Given the description of an element on the screen output the (x, y) to click on. 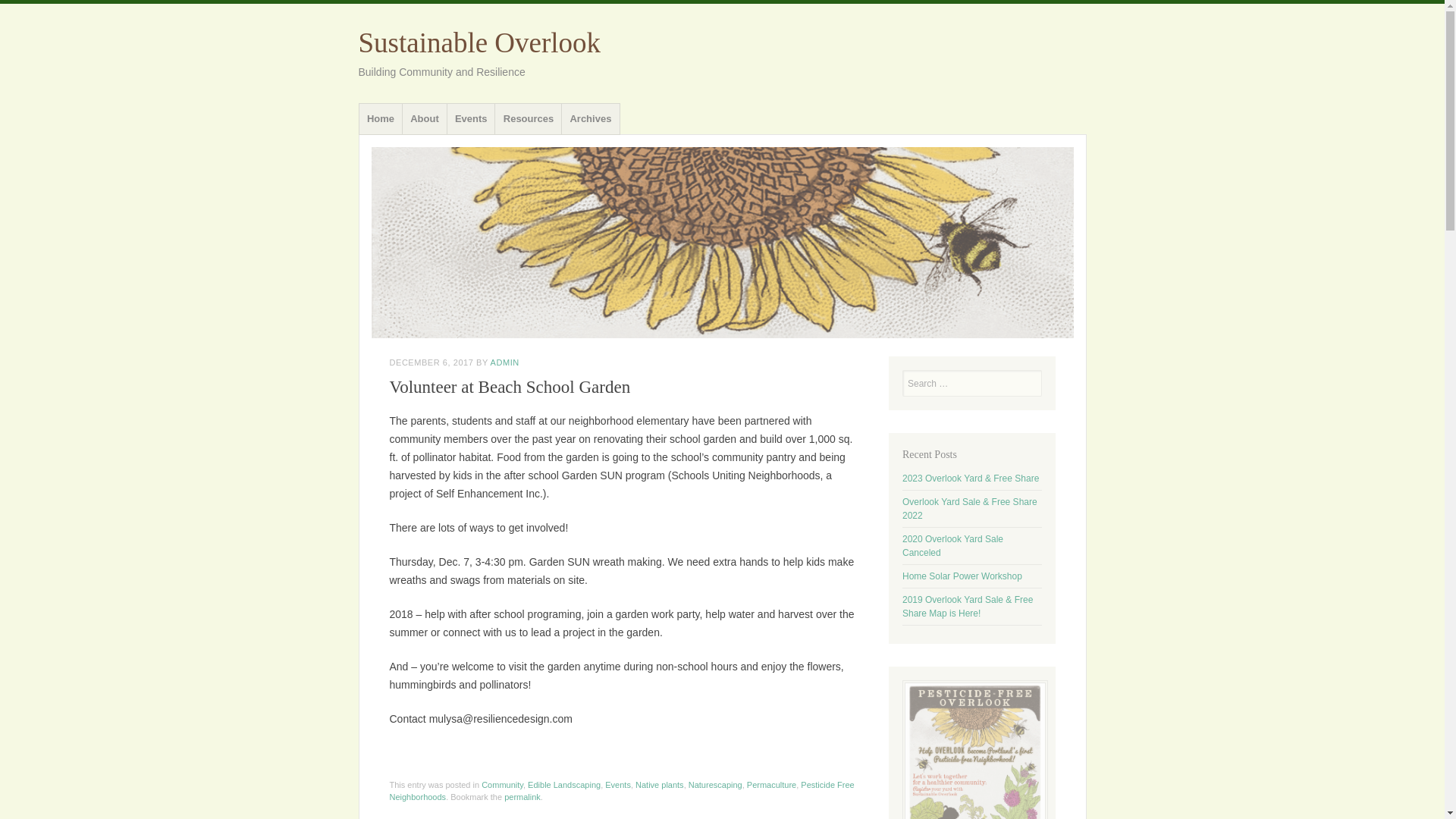
Sustainable Overlook (478, 42)
Community (501, 784)
Events (617, 784)
Naturescaping (715, 784)
2020 Overlook Yard Sale Canceled (952, 545)
Home (380, 119)
About (423, 119)
12:04 am (432, 361)
Search (19, 8)
Permalink to Volunteer at Beach School Garden (521, 796)
DECEMBER 6, 2017 (432, 361)
Skip to content (398, 107)
Permaculture (771, 784)
Archives (590, 119)
View all posts by admin (504, 361)
